Given the description of an element on the screen output the (x, y) to click on. 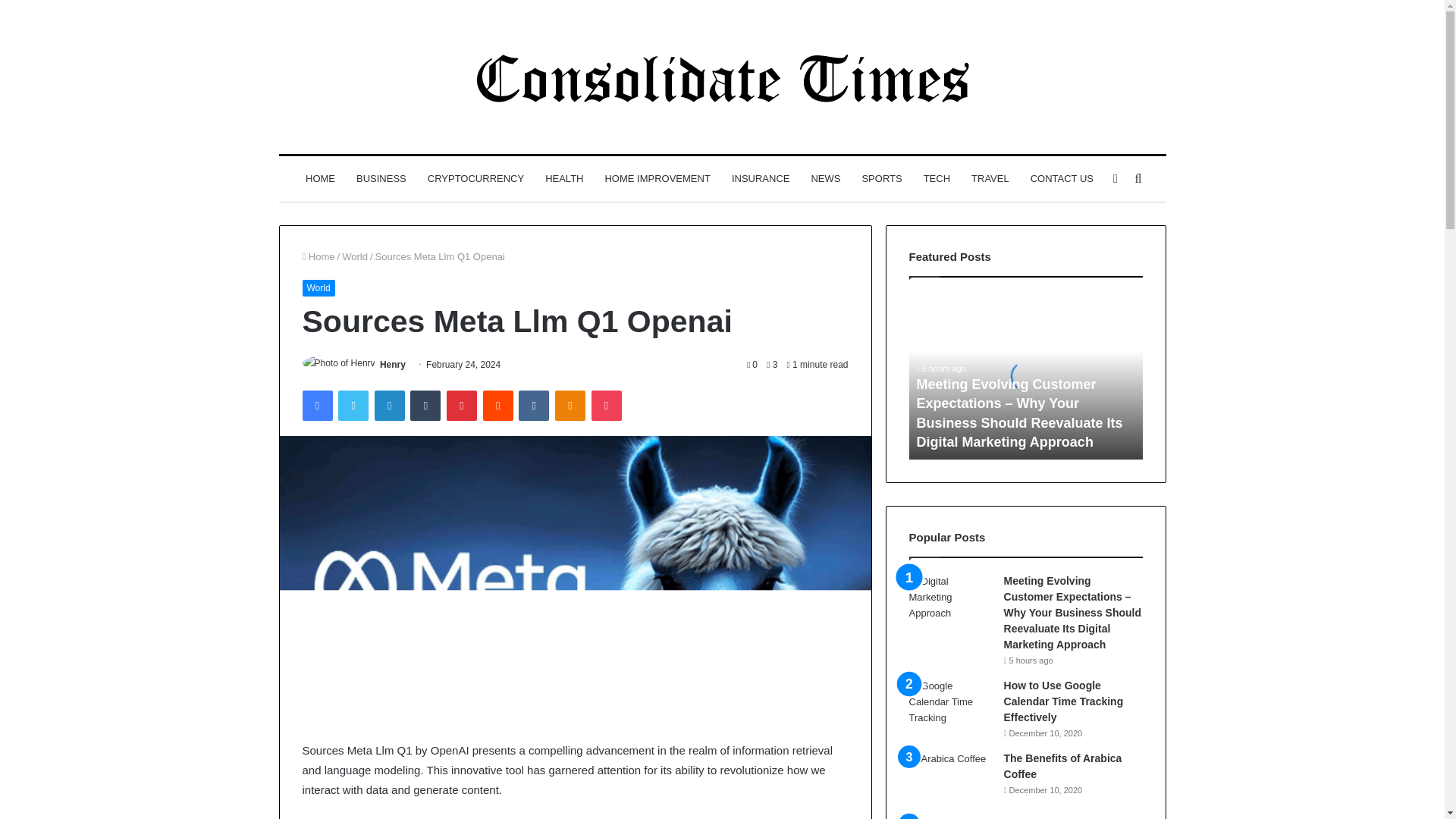
Facebook (316, 405)
CRYPTOCURRENCY (475, 178)
NEWS (824, 178)
Twitter (352, 405)
Henry (393, 364)
HEALTH (564, 178)
LinkedIn (389, 405)
Reddit (498, 405)
Twitter (352, 405)
VKontakte (533, 405)
